Given the description of an element on the screen output the (x, y) to click on. 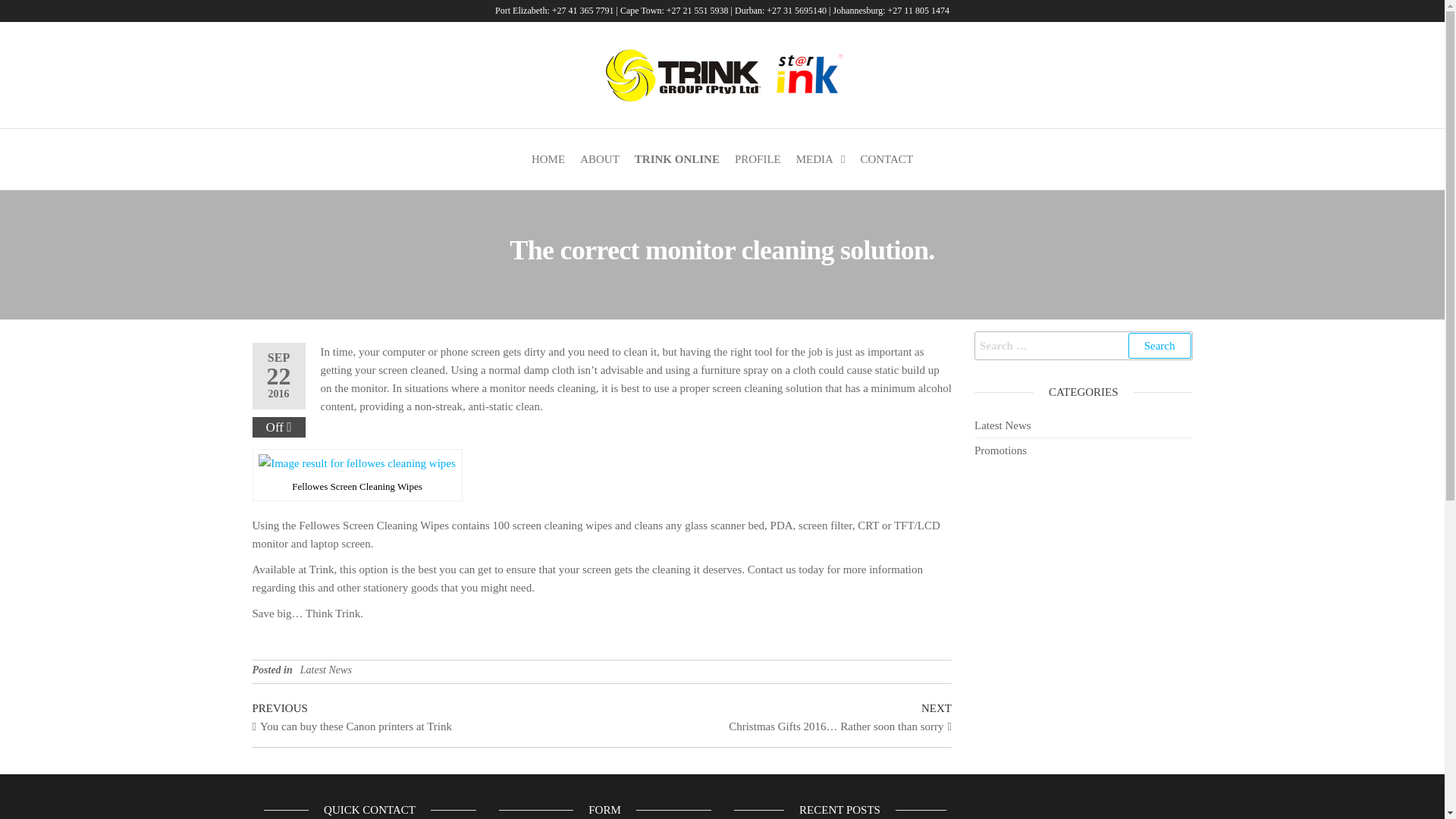
TRINK ONLINE (676, 158)
Trink Online (676, 158)
ABOUT (599, 158)
Promotions (1000, 450)
Search (1159, 345)
PROFILE (757, 158)
Profile (757, 158)
Search (1159, 345)
Contact (885, 158)
Search (1159, 345)
